Given the description of an element on the screen output the (x, y) to click on. 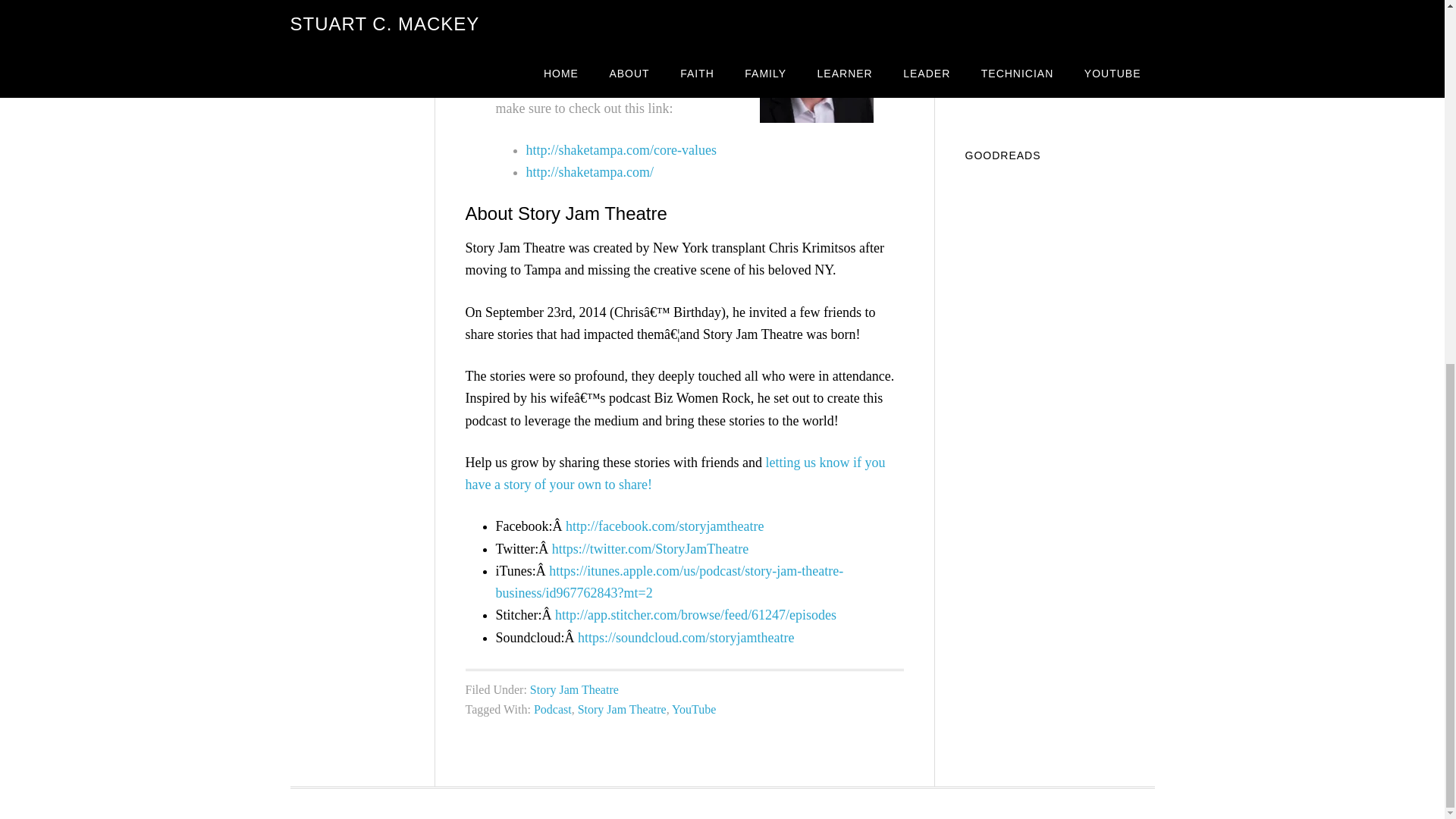
Story Jam Theatre (622, 708)
YouTube (693, 708)
letting us know if you have a story of your own to share! (675, 473)
Story Jam Theatre (573, 689)
Podcast (553, 708)
